Given the description of an element on the screen output the (x, y) to click on. 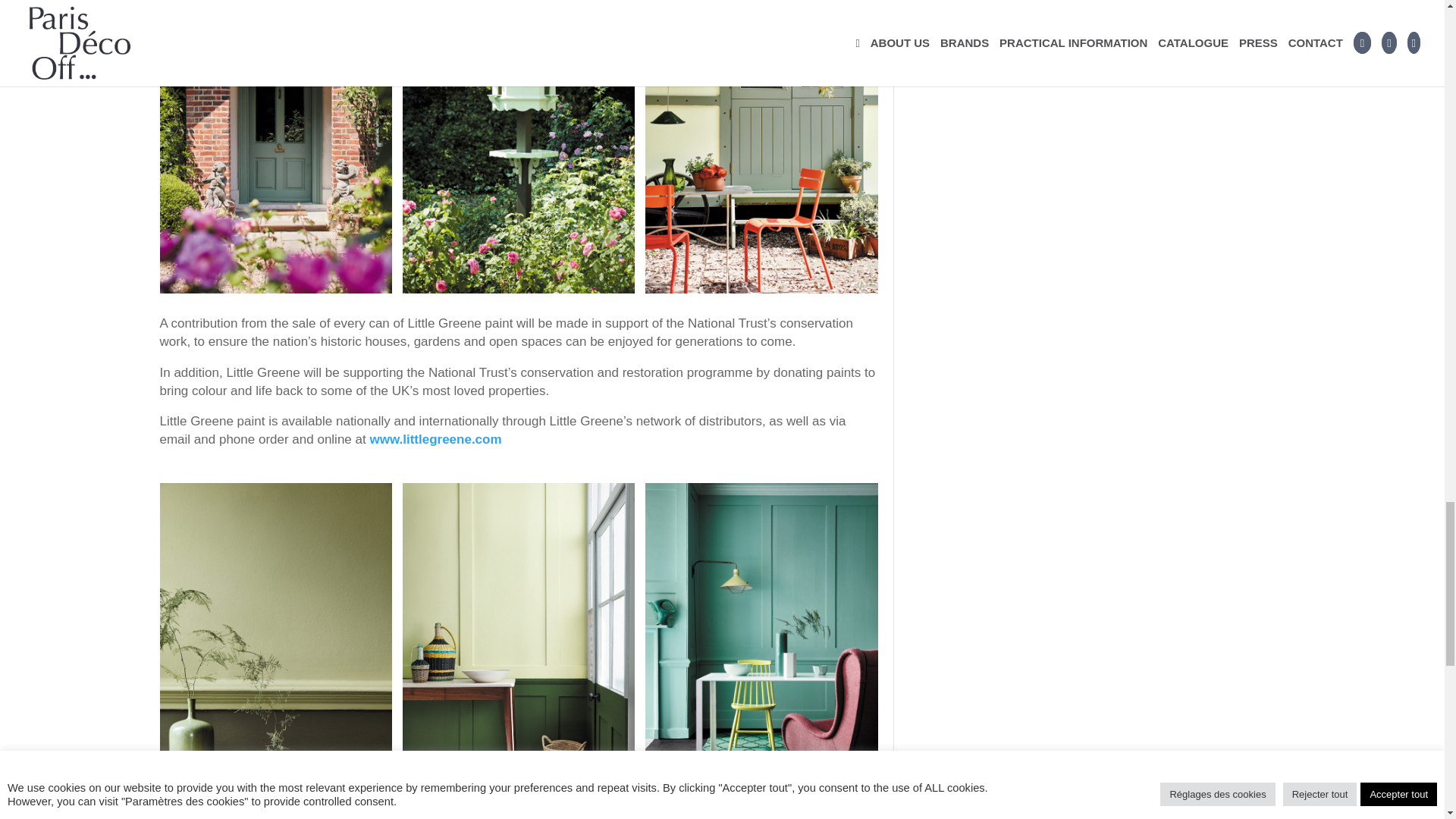
www.littlegreene.com (434, 439)
